Given the description of an element on the screen output the (x, y) to click on. 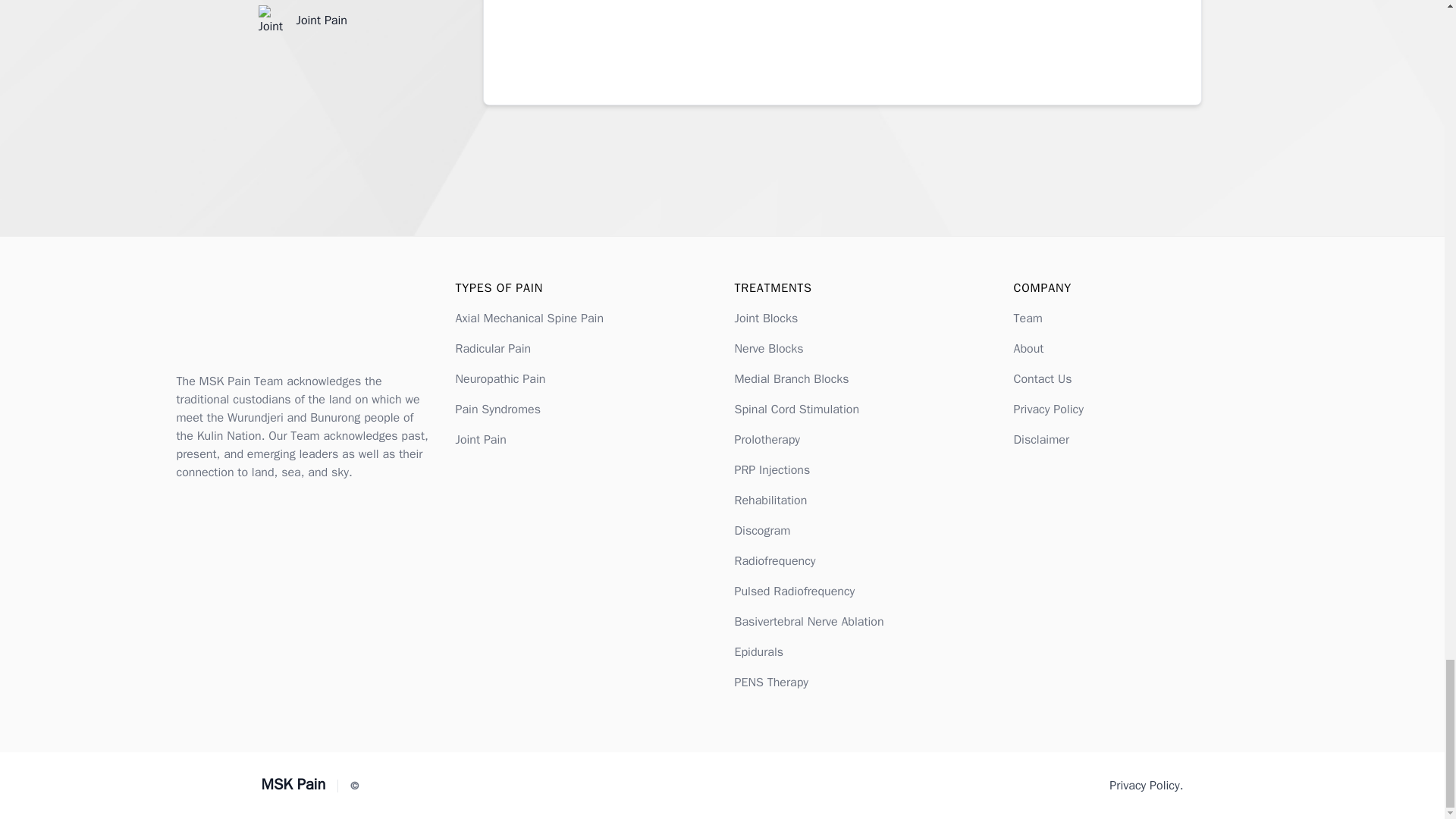
Axial Mechanical Spine Pain (529, 318)
Prolotherapy (766, 439)
Spinal Cord Stimulation (796, 409)
Epidurals (758, 652)
About (1028, 348)
Disclaimer (1040, 439)
Joint Pain (479, 439)
Basivertebral Nerve Ablation (808, 621)
Privacy Policy. (1145, 785)
Radiofrequency (774, 560)
